Given the description of an element on the screen output the (x, y) to click on. 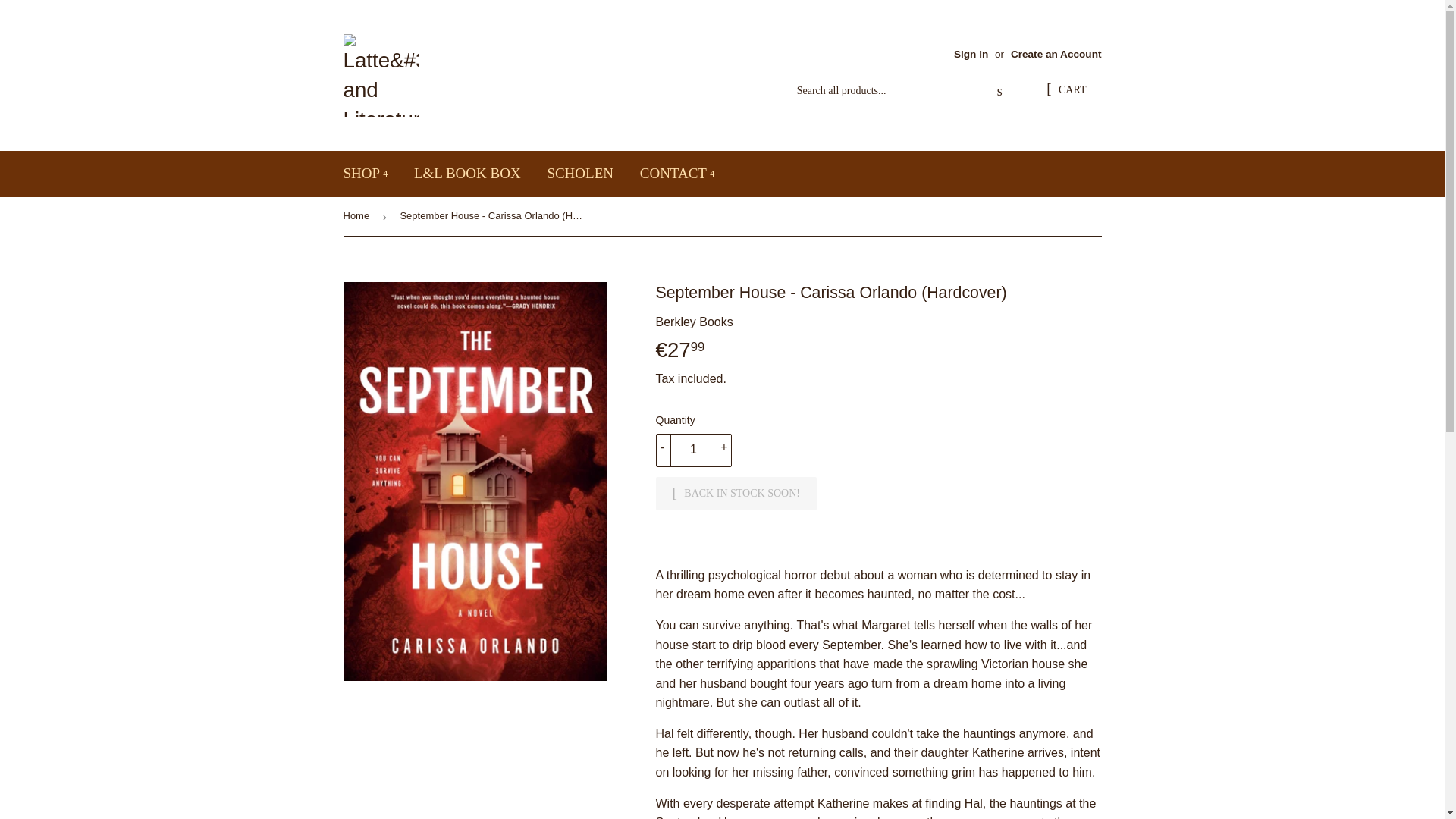
1 (692, 450)
CART (1065, 90)
Create an Account (1056, 53)
Sign in (970, 53)
Back to the frontpage (358, 216)
Search (999, 91)
